Given the description of an element on the screen output the (x, y) to click on. 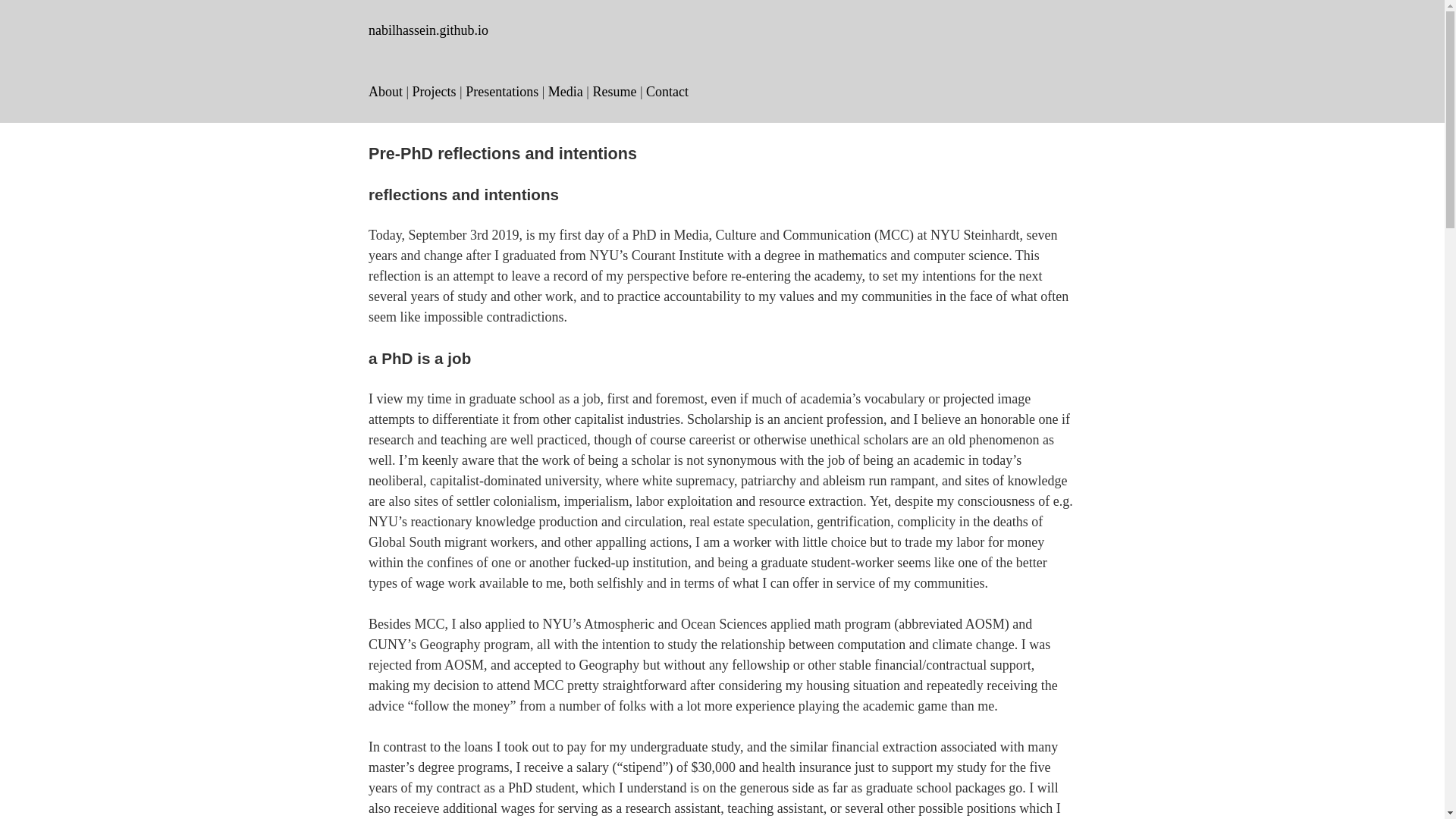
Projects (434, 91)
About (385, 91)
Presentations (501, 91)
Contact (667, 91)
Resume (614, 91)
Media (565, 91)
nabilhassein.github.io (427, 29)
